Given the description of an element on the screen output the (x, y) to click on. 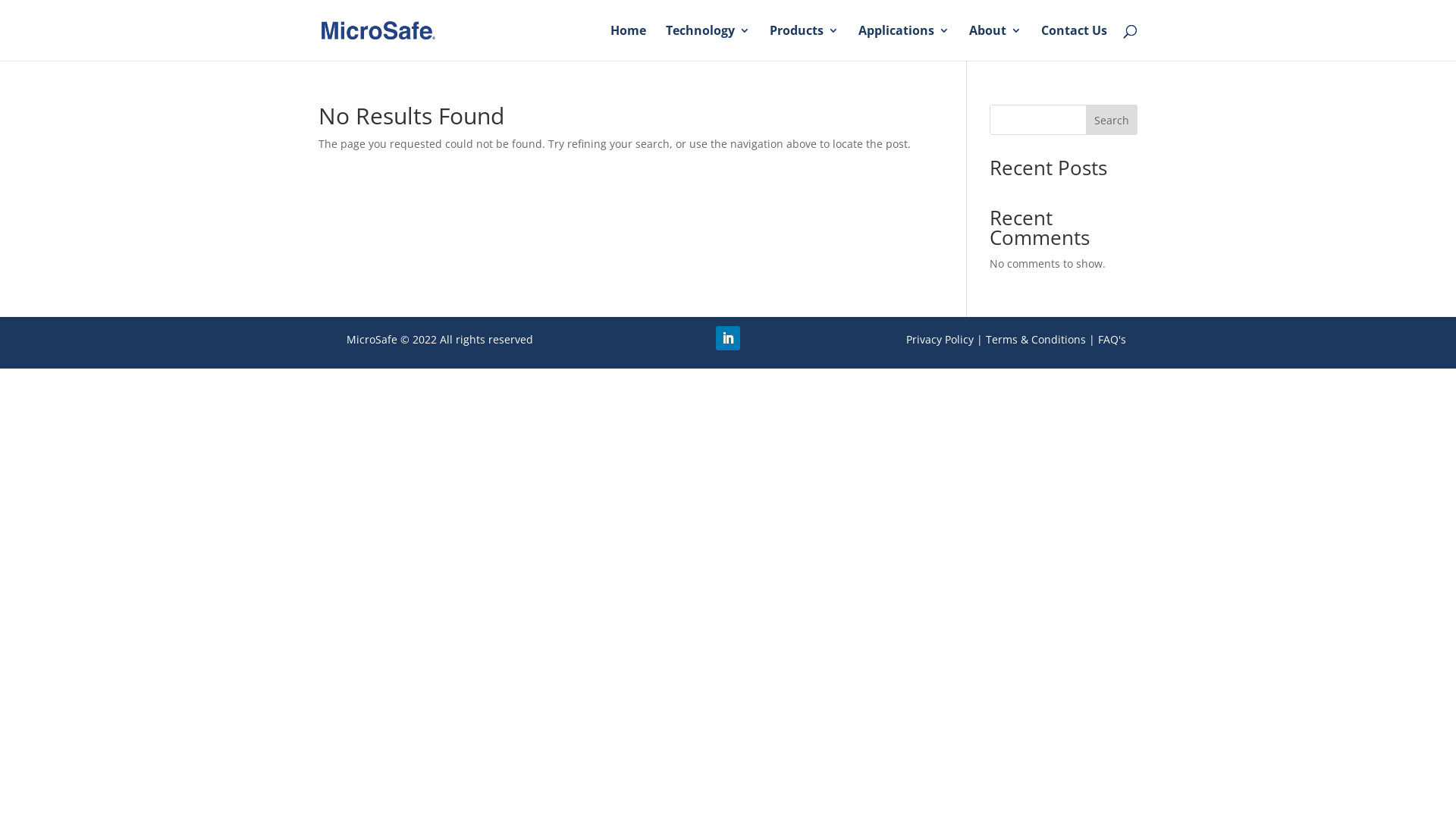
Contact Us Element type: text (1074, 42)
Home Element type: text (628, 42)
Privacy Policy Element type: text (939, 339)
Terms & Conditions Element type: text (1035, 339)
FAQ's Element type: text (1112, 339)
Technology Element type: text (707, 42)
Applications Element type: text (903, 42)
Products Element type: text (803, 42)
Search Element type: text (1111, 119)
Follow on LinkedIn Element type: hover (727, 338)
About Element type: text (995, 42)
